Given the description of an element on the screen output the (x, y) to click on. 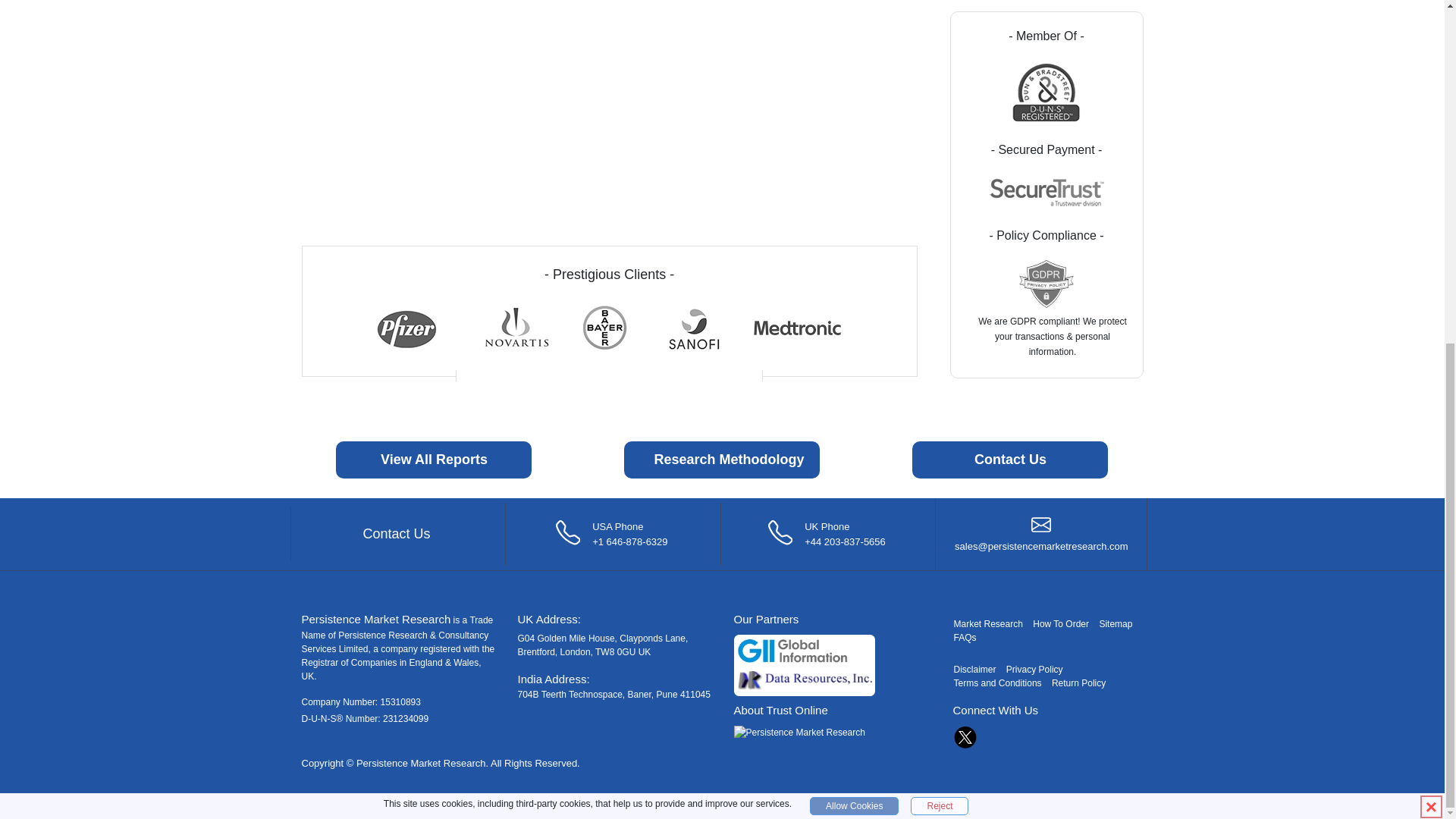
Return Policy (1078, 683)
How To Order (1060, 624)
View All Reports (433, 459)
FAQs (964, 637)
Contact Us (1010, 459)
Terms and Conditions (997, 683)
Research Methodology (721, 459)
Duns Registered (1046, 91)
Privacy Policy (1034, 669)
Disclaimer (974, 669)
